Given the description of an element on the screen output the (x, y) to click on. 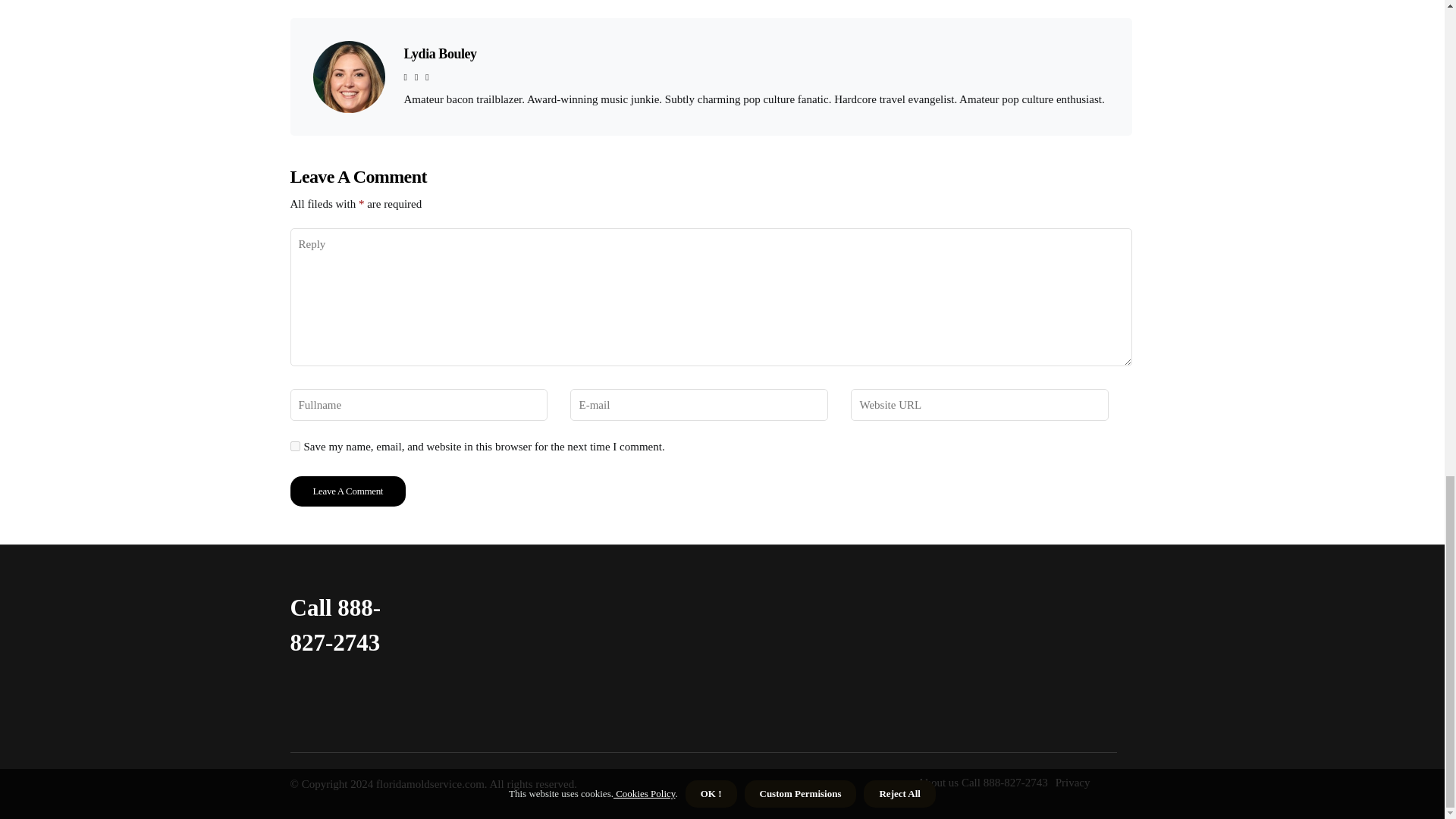
Leave a Comment (347, 490)
yes (294, 446)
Leave a Comment (347, 490)
Lydia Bouley (439, 53)
